Given the description of an element on the screen output the (x, y) to click on. 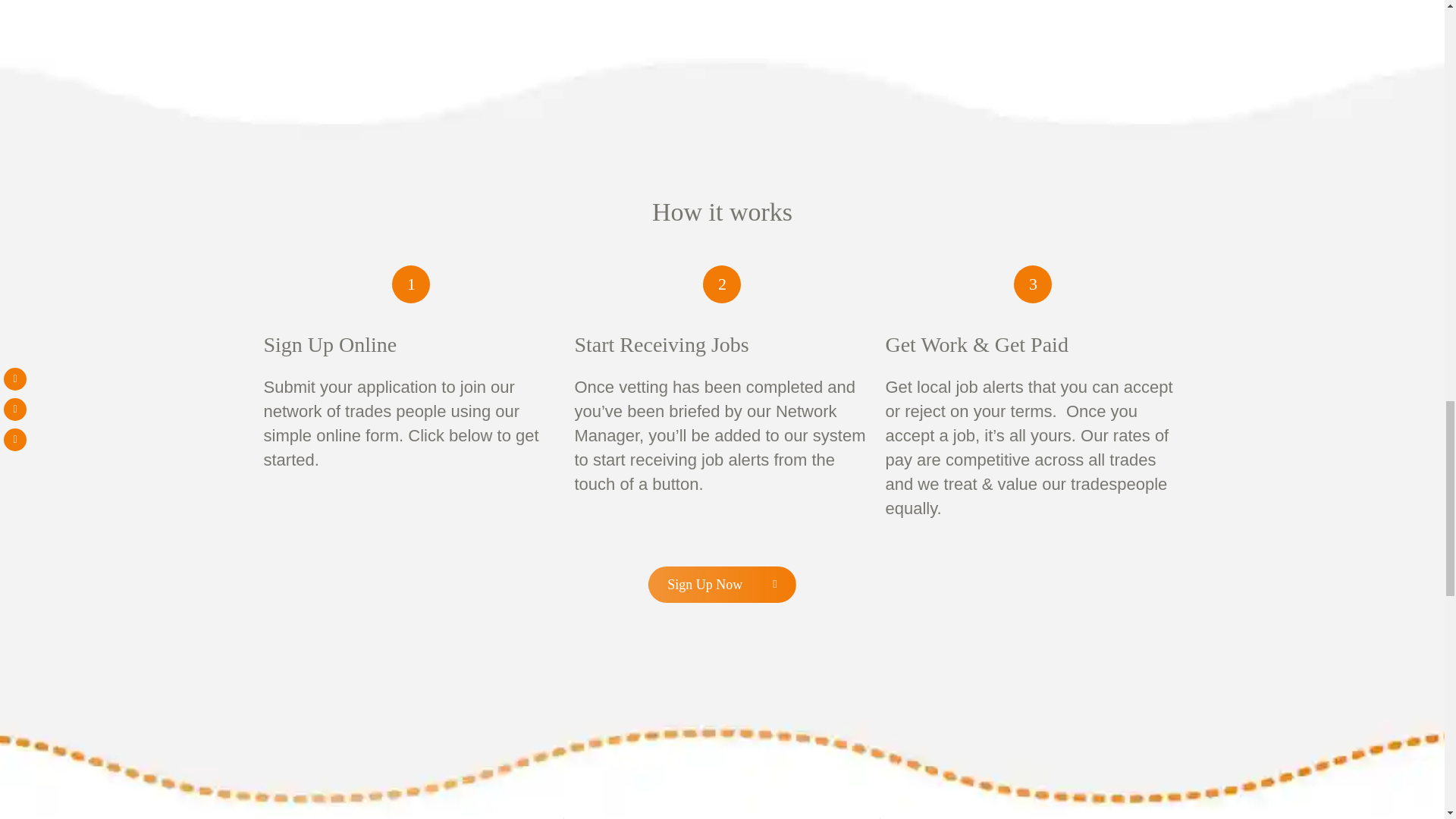
Sign Up Now (721, 584)
